Given the description of an element on the screen output the (x, y) to click on. 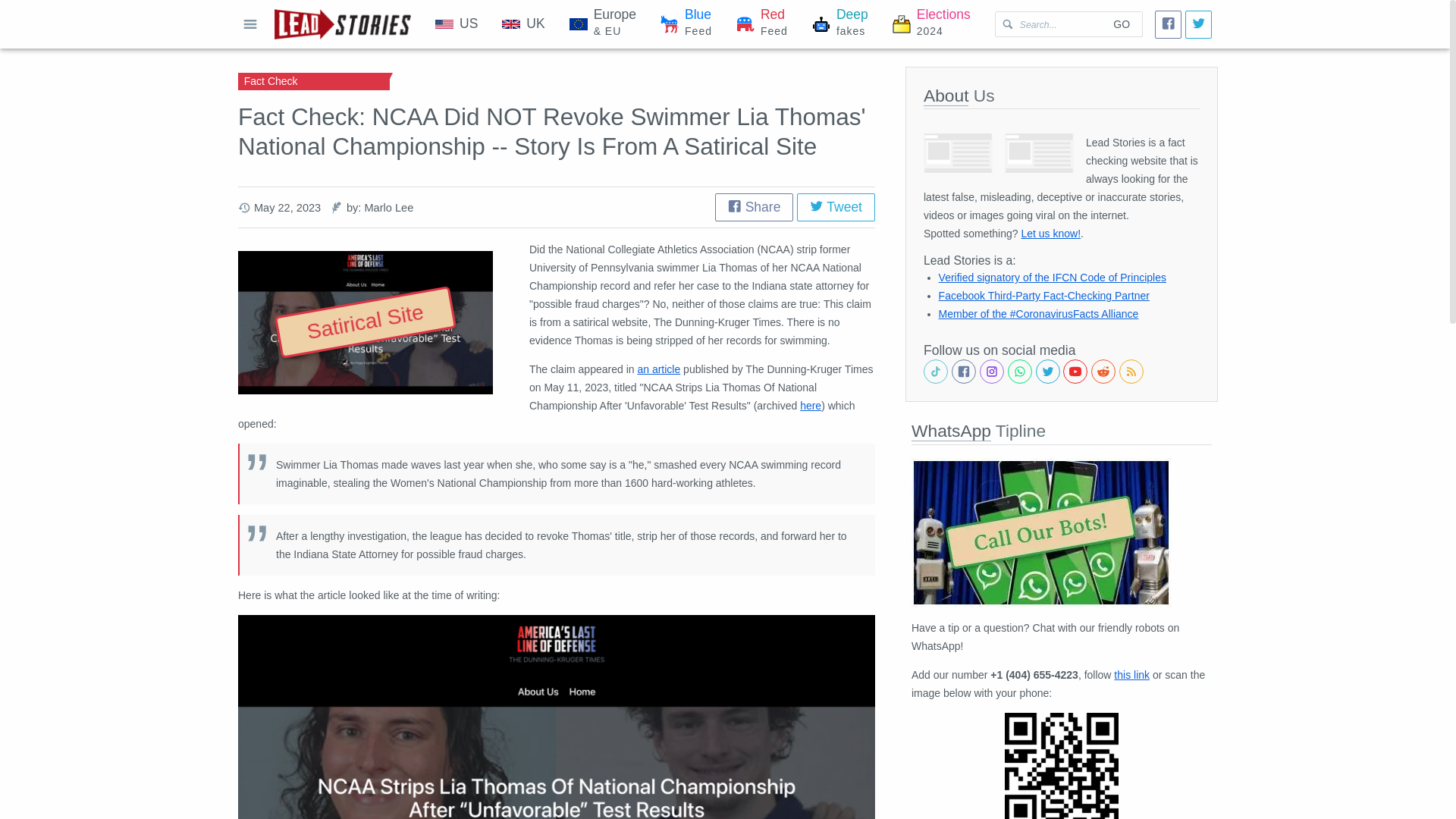
Facebook Third-Party Fact-Checking Partner (839, 24)
an article (1044, 295)
Share (658, 369)
UK (753, 207)
Tweet (931, 24)
Verified signatory of the IFCN Code of Principles (522, 24)
